Given the description of an element on the screen output the (x, y) to click on. 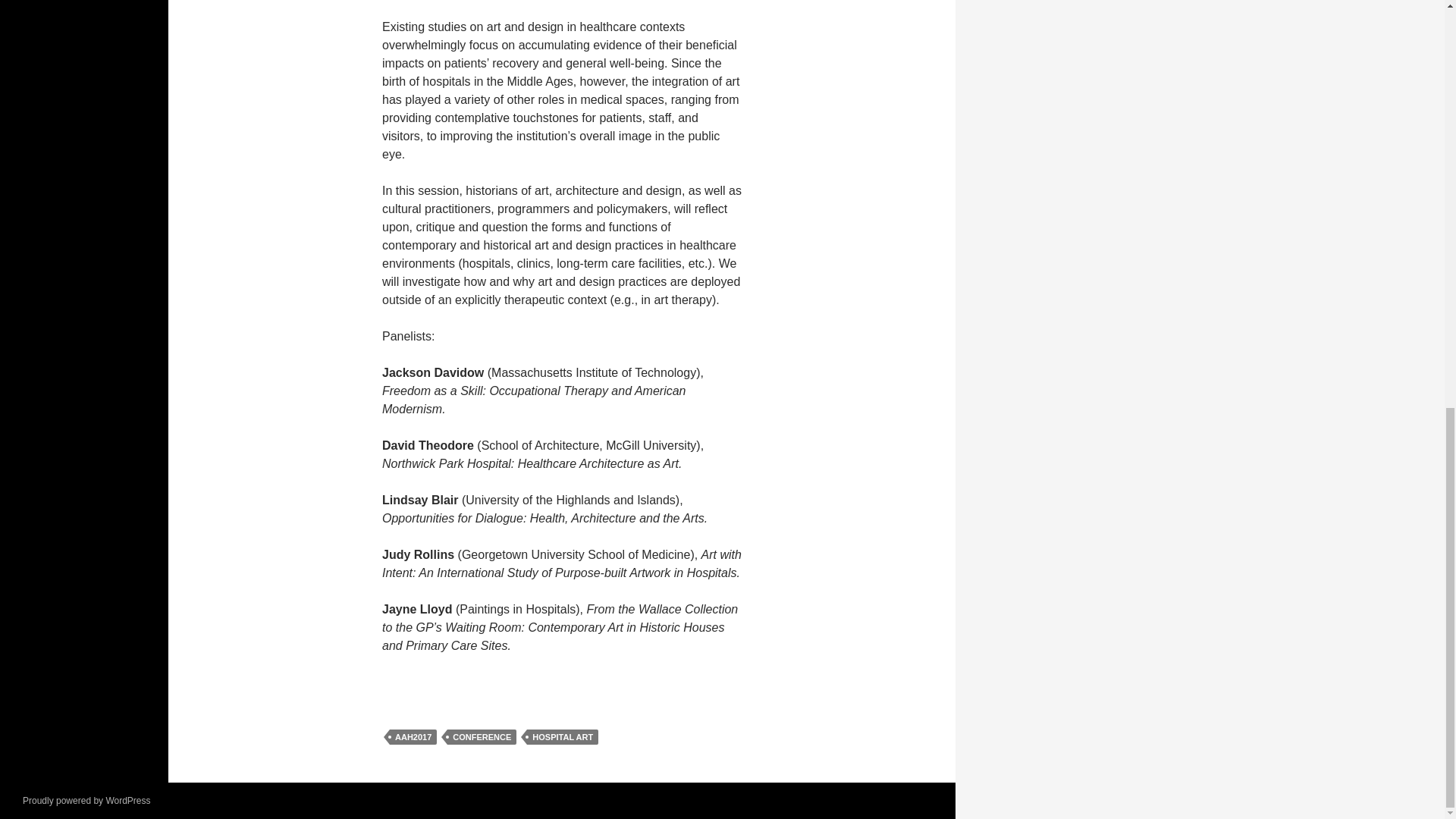
HOSPITAL ART (562, 736)
AAH2017 (413, 736)
Proudly powered by WordPress (87, 800)
CONFERENCE (481, 736)
